Given the description of an element on the screen output the (x, y) to click on. 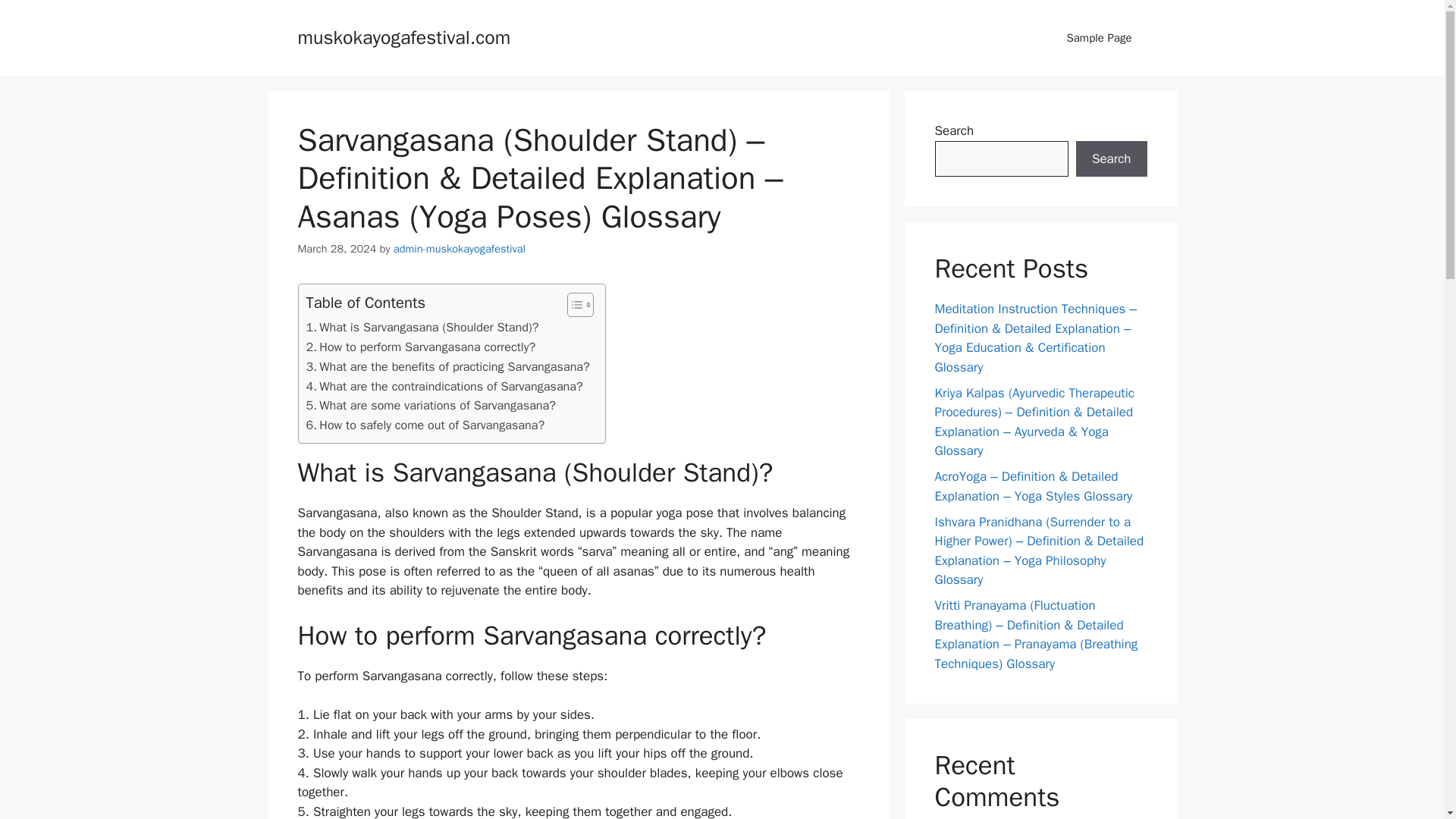
What are the benefits of practicing Sarvangasana? (447, 366)
What are the contraindications of Sarvangasana? (444, 386)
How to safely come out of Sarvangasana? (424, 424)
What are the benefits of practicing Sarvangasana? (447, 366)
admin-muskokayogafestival (459, 248)
What are the contraindications of Sarvangasana? (444, 386)
Search (1111, 158)
Sample Page (1099, 37)
What are some variations of Sarvangasana? (430, 405)
How to safely come out of Sarvangasana? (424, 424)
muskokayogafestival.com (404, 37)
How to perform Sarvangasana correctly? (420, 347)
How to perform Sarvangasana correctly? (420, 347)
View all posts by admin-muskokayogafestival (459, 248)
What are some variations of Sarvangasana? (430, 405)
